Given the description of an element on the screen output the (x, y) to click on. 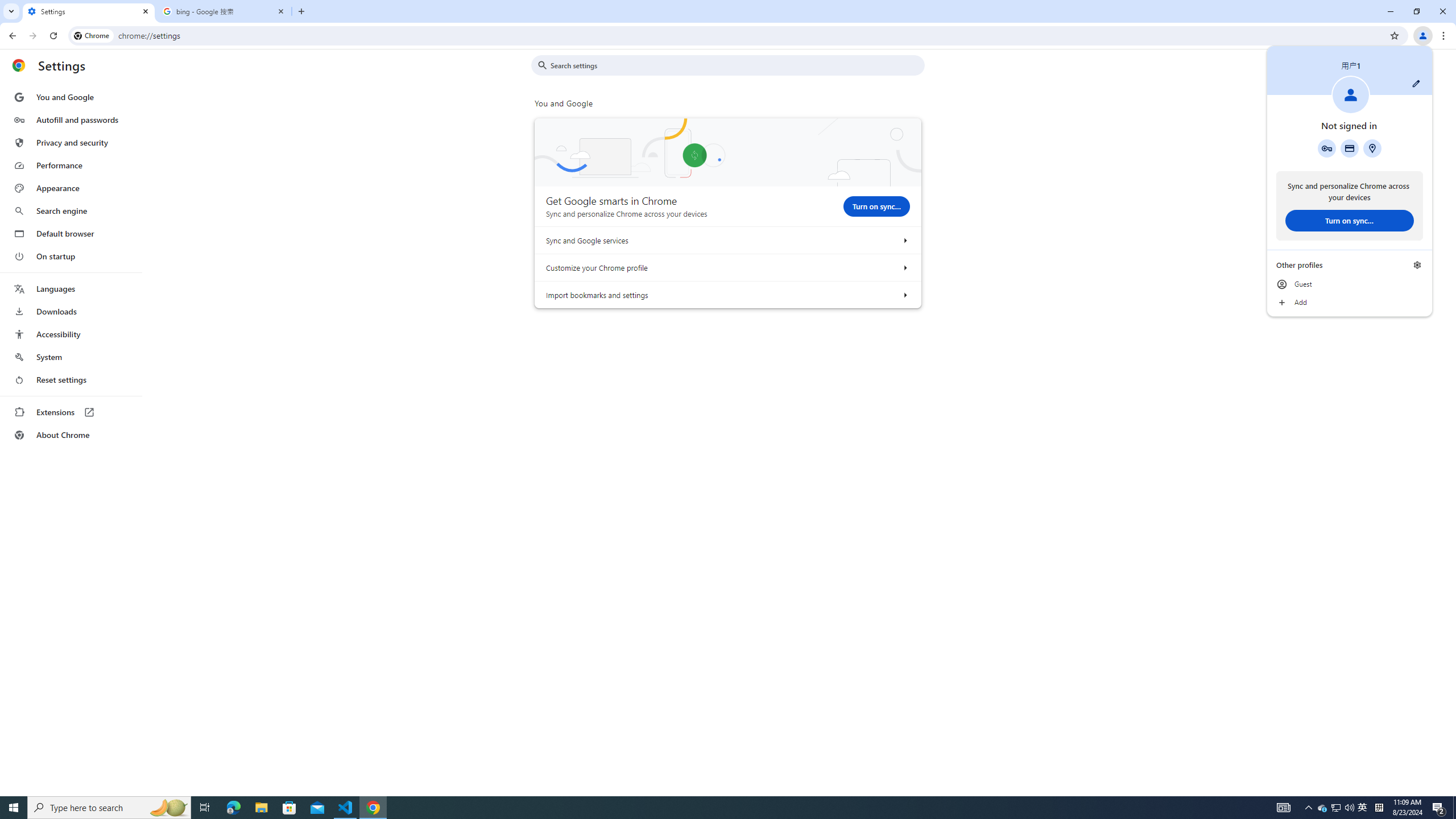
Autofill and passwords (70, 119)
Microsoft Edge (233, 807)
Search highlights icon opens search home window (167, 807)
About Chrome (70, 434)
Tray Input Indicator - Chinese (Simplified, China) (1378, 807)
File Explorer (261, 807)
Settings (88, 11)
Show desktop (1454, 807)
On startup (70, 255)
Customize profile (1415, 83)
